Given the description of an element on the screen output the (x, y) to click on. 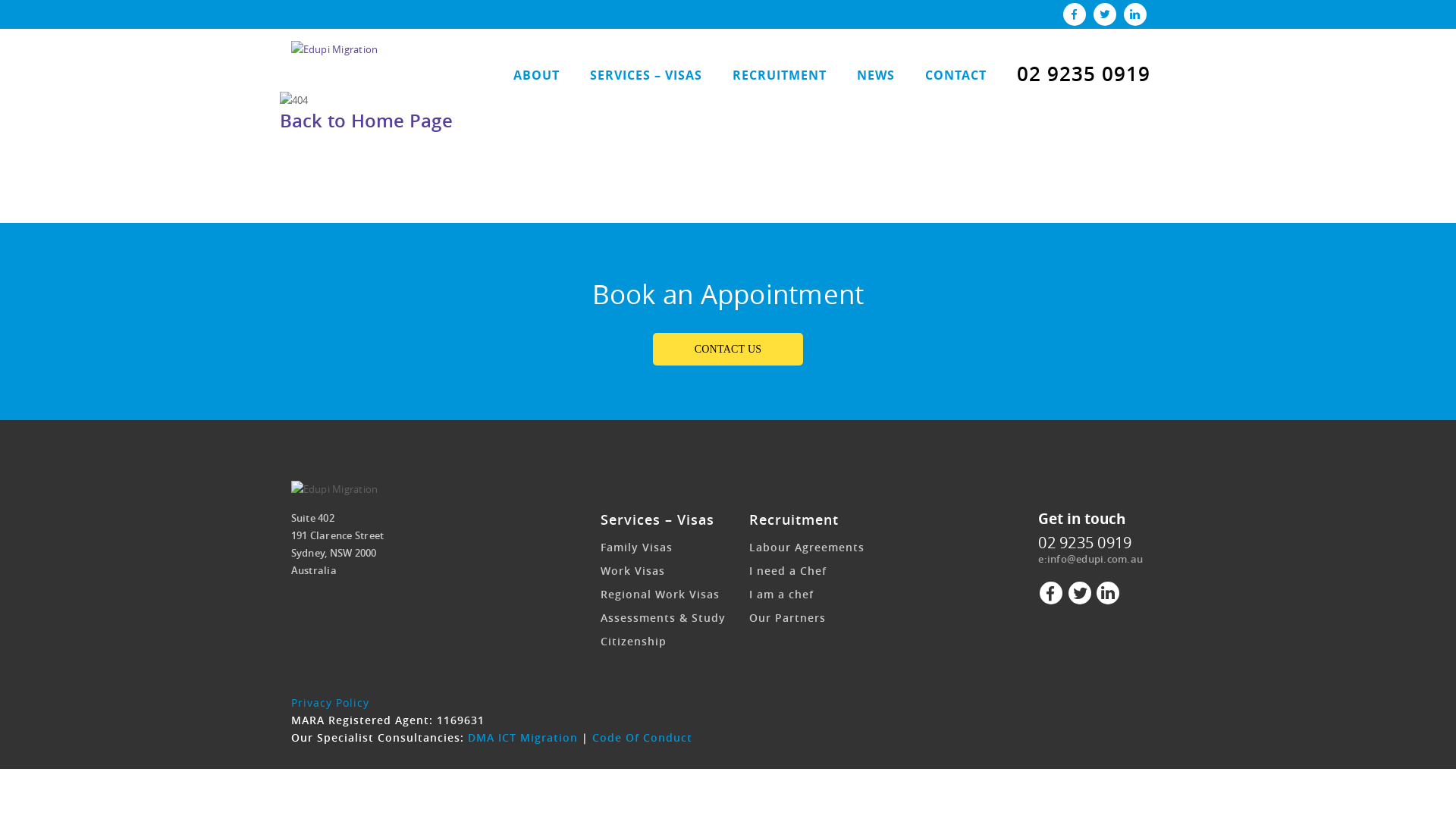
02 9235 0919 Element type: text (1084, 542)
I am a chef Element type: text (781, 593)
CONTACT US Element type: text (727, 348)
CONTACT Element type: text (955, 76)
Family Visas Element type: text (636, 546)
Citizenship Element type: text (633, 640)
Code Of Conduct Element type: text (641, 737)
Back to Home Page Element type: text (365, 120)
e:info@edupi.com.au Element type: text (1090, 558)
02 9235 0919 Element type: text (1082, 73)
ABOUT Element type: text (535, 76)
I need a Chef Element type: text (787, 570)
Work Visas Element type: text (632, 570)
NEWS Element type: text (875, 76)
Privacy Policy Element type: text (330, 702)
Recruitment Element type: text (793, 519)
RECRUITMENT Element type: text (779, 76)
DMA ICT Migration Element type: text (522, 737)
Labour Agreements Element type: text (806, 546)
Regional Work Visas Element type: text (659, 593)
Our Partners Element type: text (787, 617)
Assessments & Study Element type: text (662, 617)
